Given the description of an element on the screen output the (x, y) to click on. 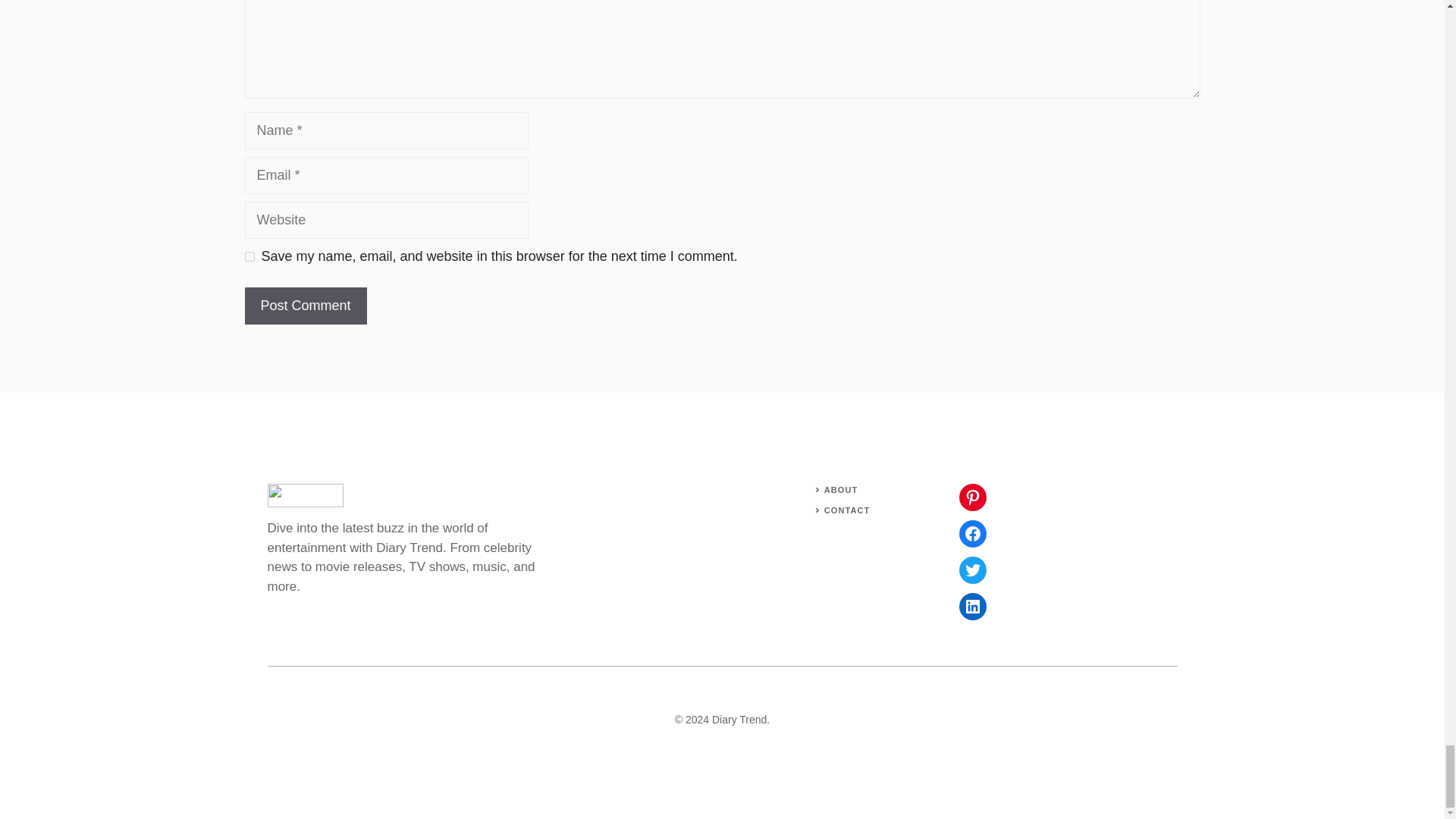
ABOUT (841, 489)
CONTACT (847, 510)
Pinterest (971, 497)
LinkedIn (971, 605)
Twitter (971, 569)
Post Comment (305, 305)
Diary Trend (739, 719)
Post Comment (305, 305)
yes (248, 256)
Facebook (971, 533)
